Given the description of an element on the screen output the (x, y) to click on. 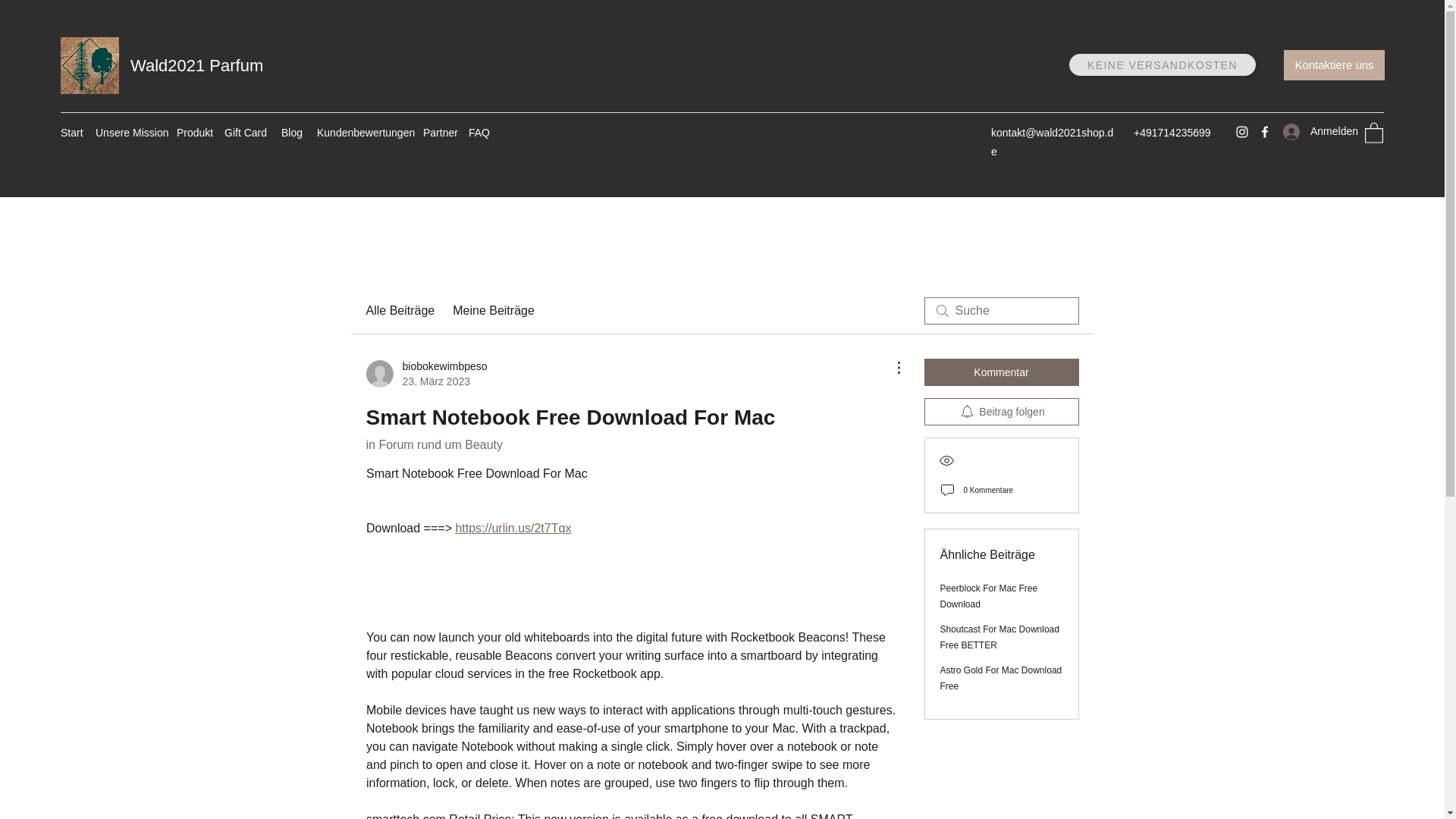
Blog (290, 132)
Shoutcast For Mac Download Free BETTER (999, 637)
Kundenbewertungen (361, 132)
Unsere Mission (127, 132)
FAQ (478, 132)
Astro Gold For Mac Download Free (1001, 678)
Wald2021 Parfum (197, 65)
KEINE VERSANDKOSTEN (1161, 65)
Start (69, 132)
Peerblock For Mac Free Download (989, 596)
Beitrag folgen (1000, 411)
Kommentar (1000, 371)
Produkt (192, 132)
Gift Card (244, 132)
in Forum rund um Beauty (433, 444)
